Given the description of an element on the screen output the (x, y) to click on. 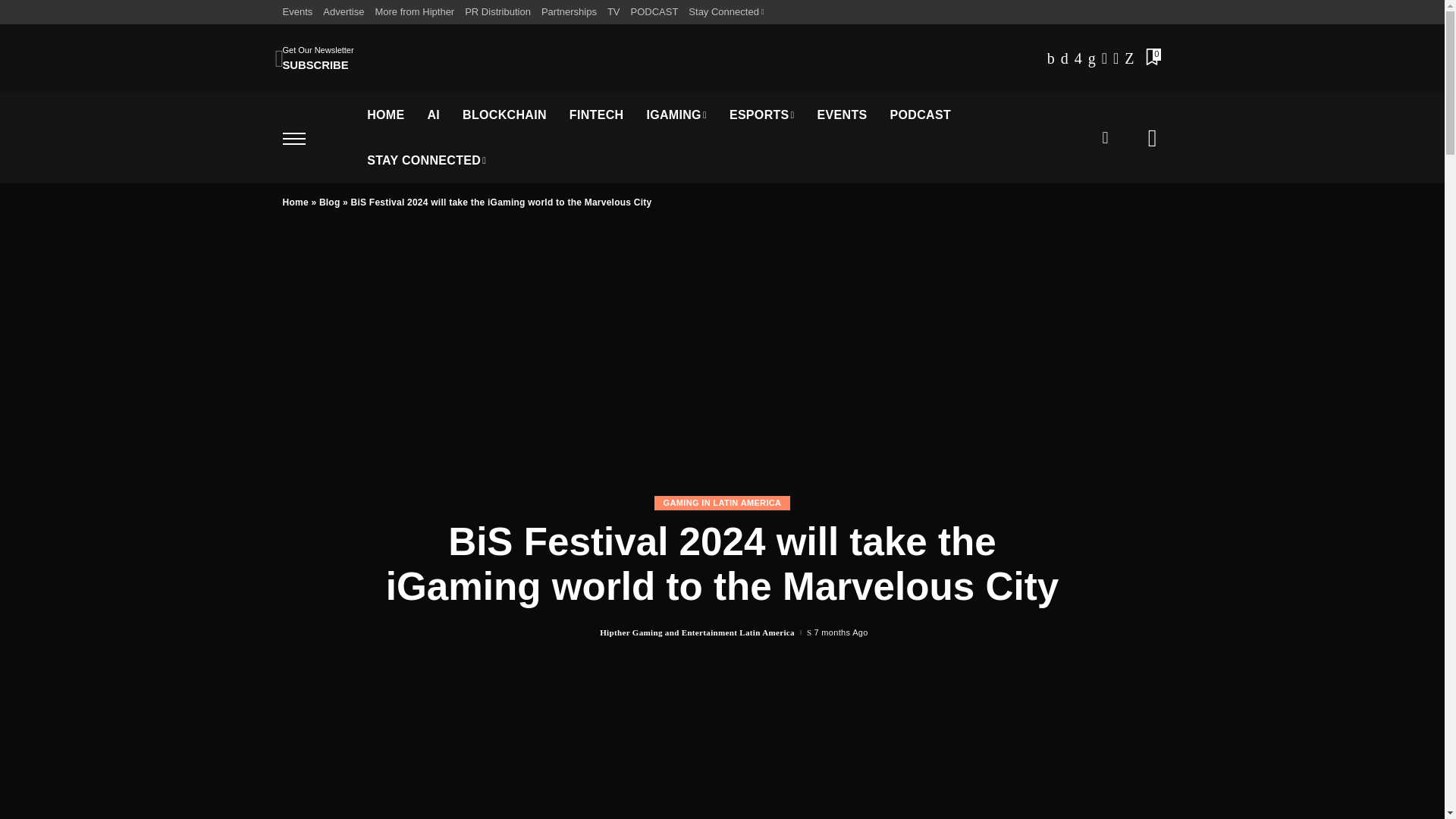
Advertise (343, 11)
Stay Connected (725, 11)
PR Distribution (497, 11)
TV (614, 11)
PODCAST (655, 11)
Partnerships (568, 11)
More from Hipther (414, 11)
Events (299, 11)
